Given the description of an element on the screen output the (x, y) to click on. 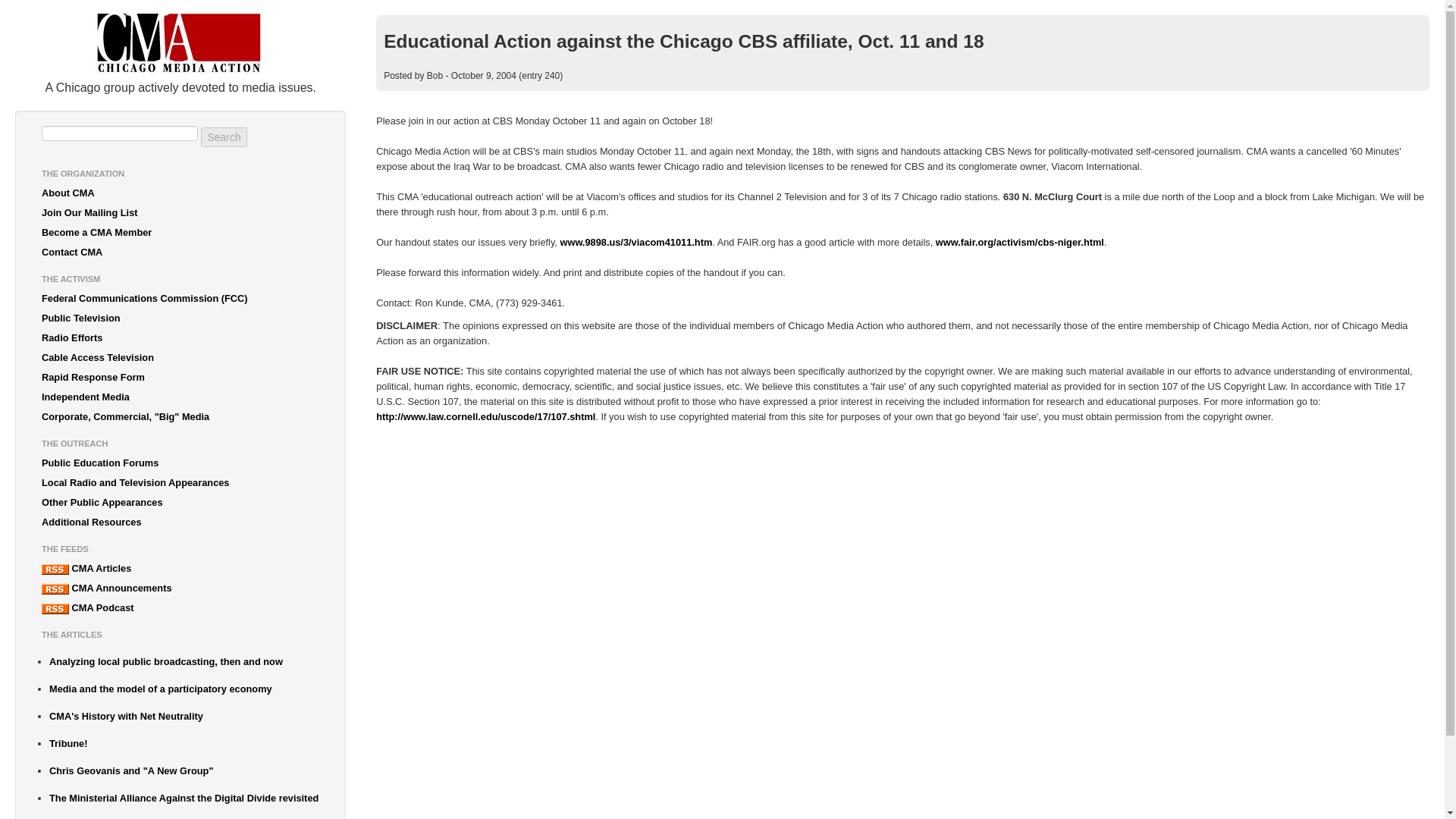
Contact CMA (180, 252)
Other Public Appearances (180, 502)
Tribune! (183, 743)
Cable Access Television (180, 357)
CMA's History with Net Neutrality (183, 716)
CMA Articles (180, 568)
Corporate, Commercial, "Big" Media (180, 416)
Analyzing local public broadcasting, then and now (183, 661)
Independent Media (180, 397)
Join Our Mailing List (180, 212)
Search (223, 137)
Local Radio and Television Appearances (180, 483)
Chris Geovanis and "A New Group" (183, 771)
